Given the description of an element on the screen output the (x, y) to click on. 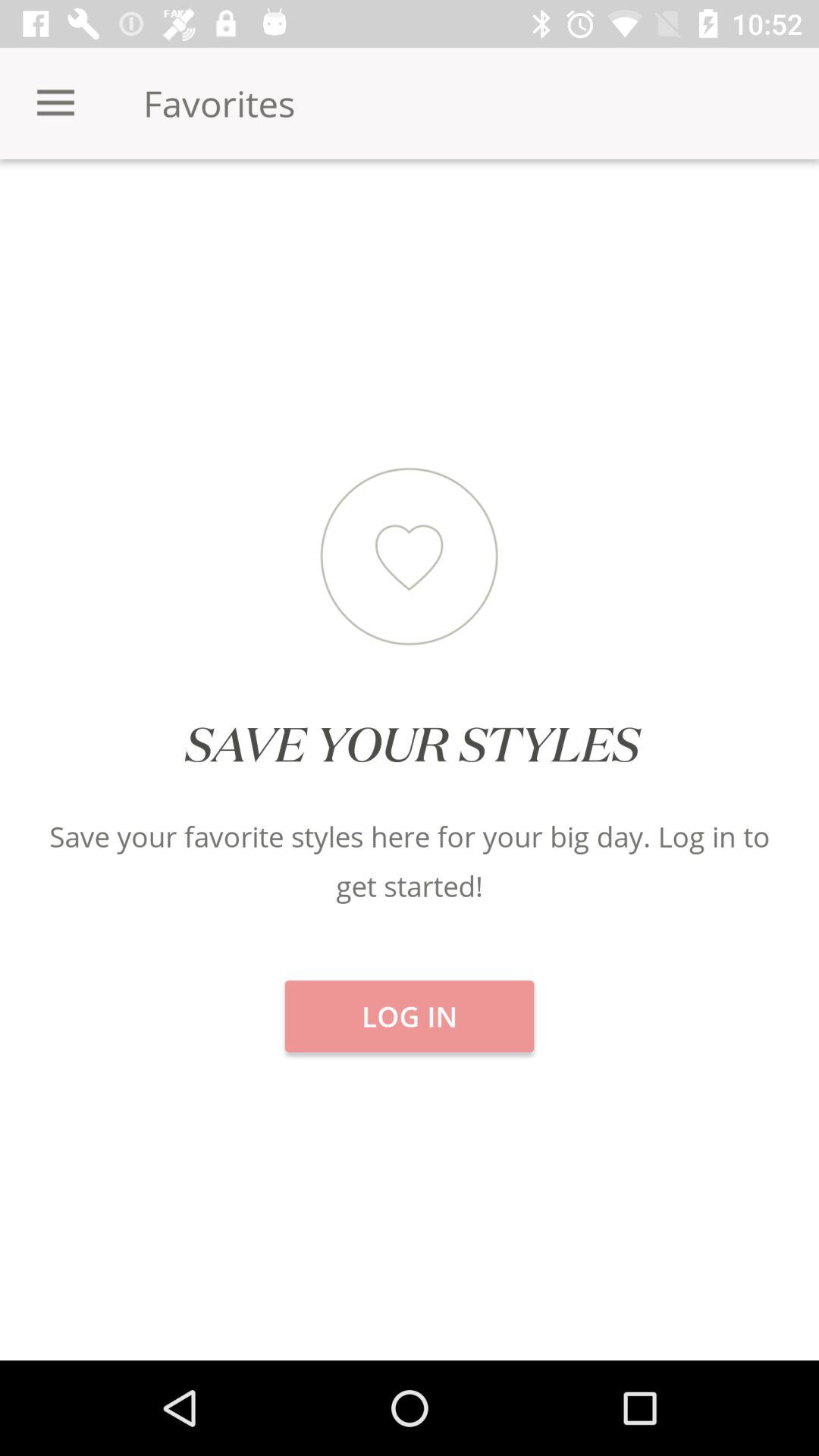
select the icon above the hello icon (409, 212)
